Given the description of an element on the screen output the (x, y) to click on. 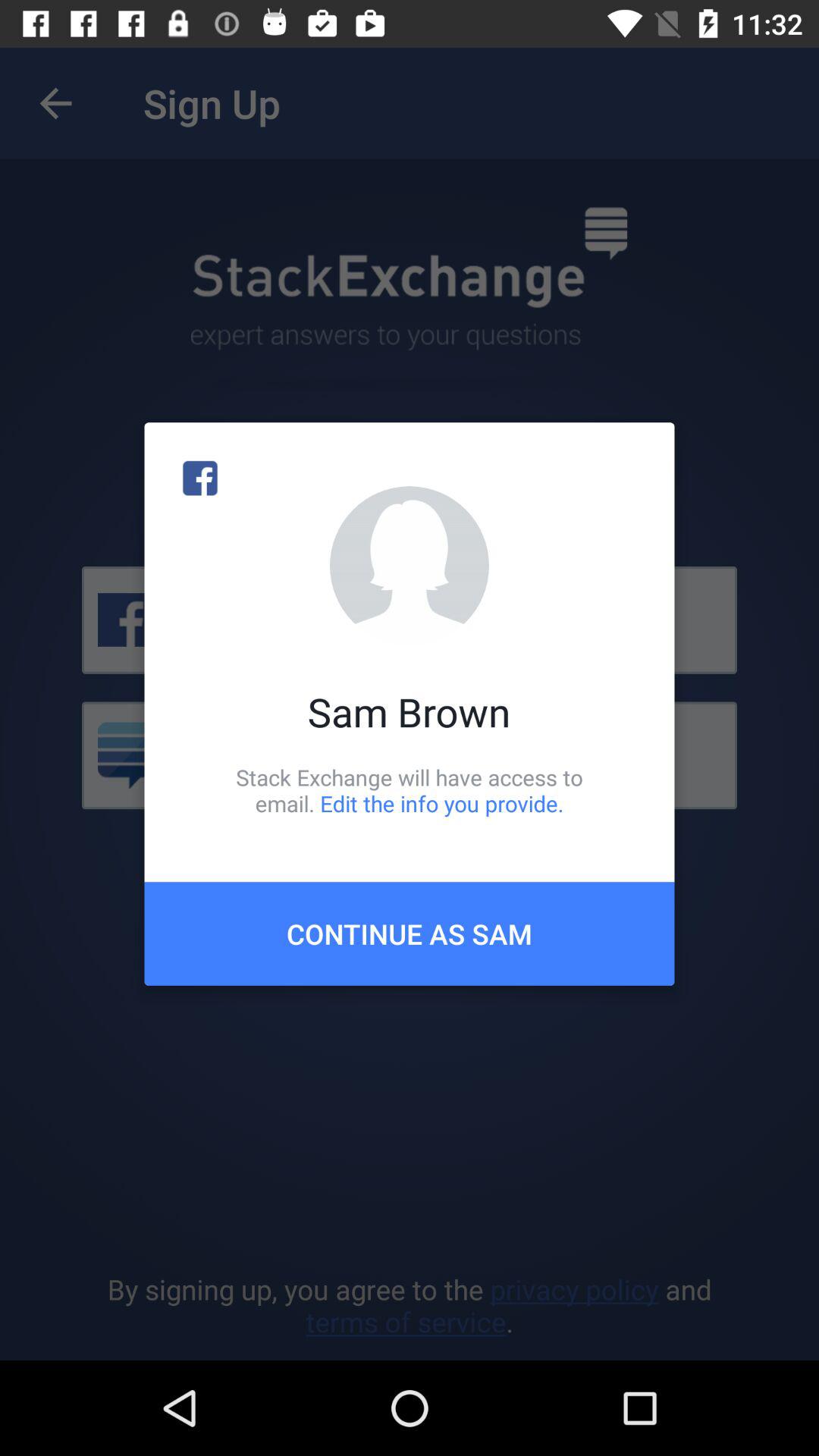
swipe until the continue as sam icon (409, 933)
